Given the description of an element on the screen output the (x, y) to click on. 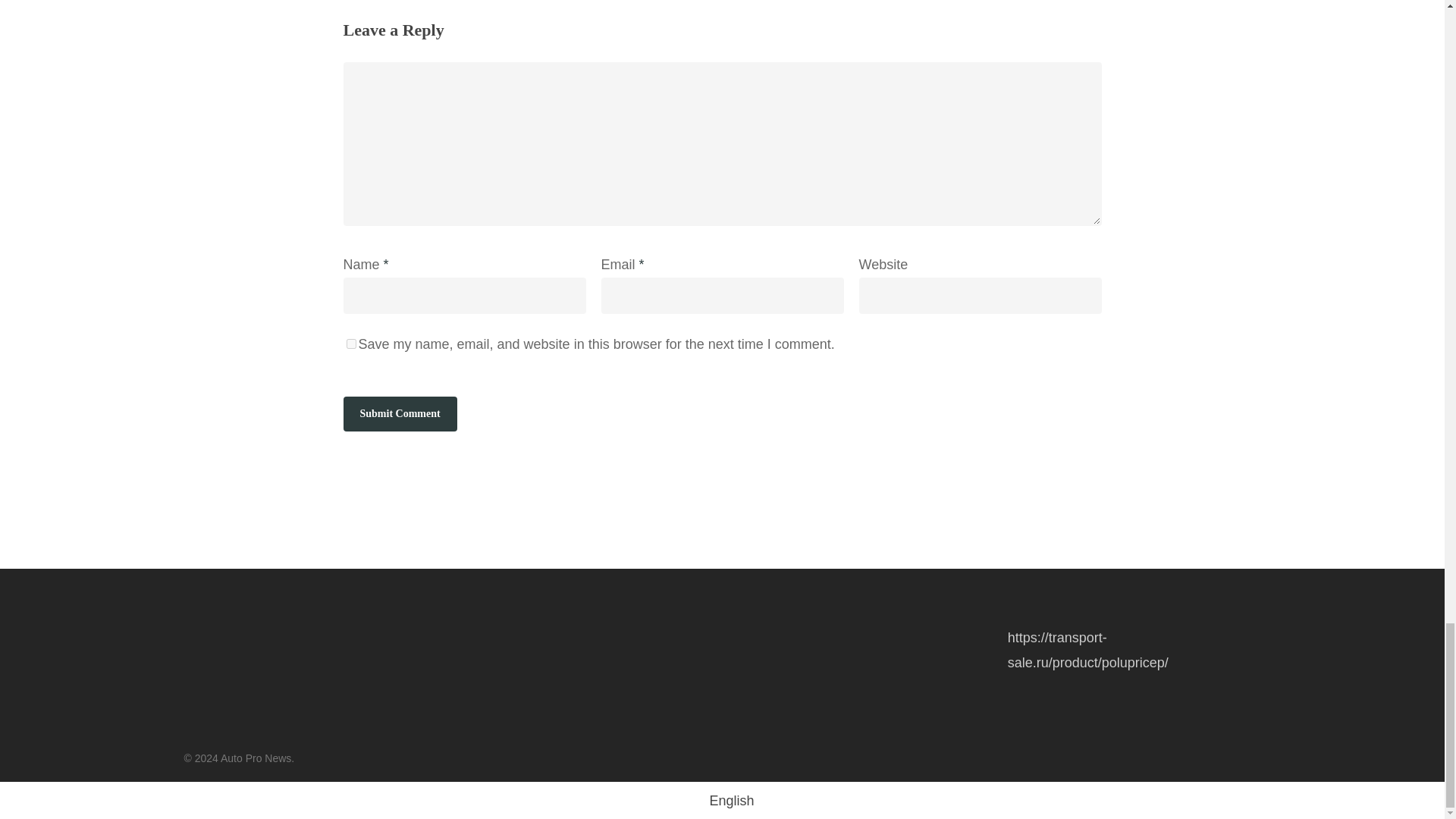
yes (350, 343)
Submit Comment (399, 413)
